Given the description of an element on the screen output the (x, y) to click on. 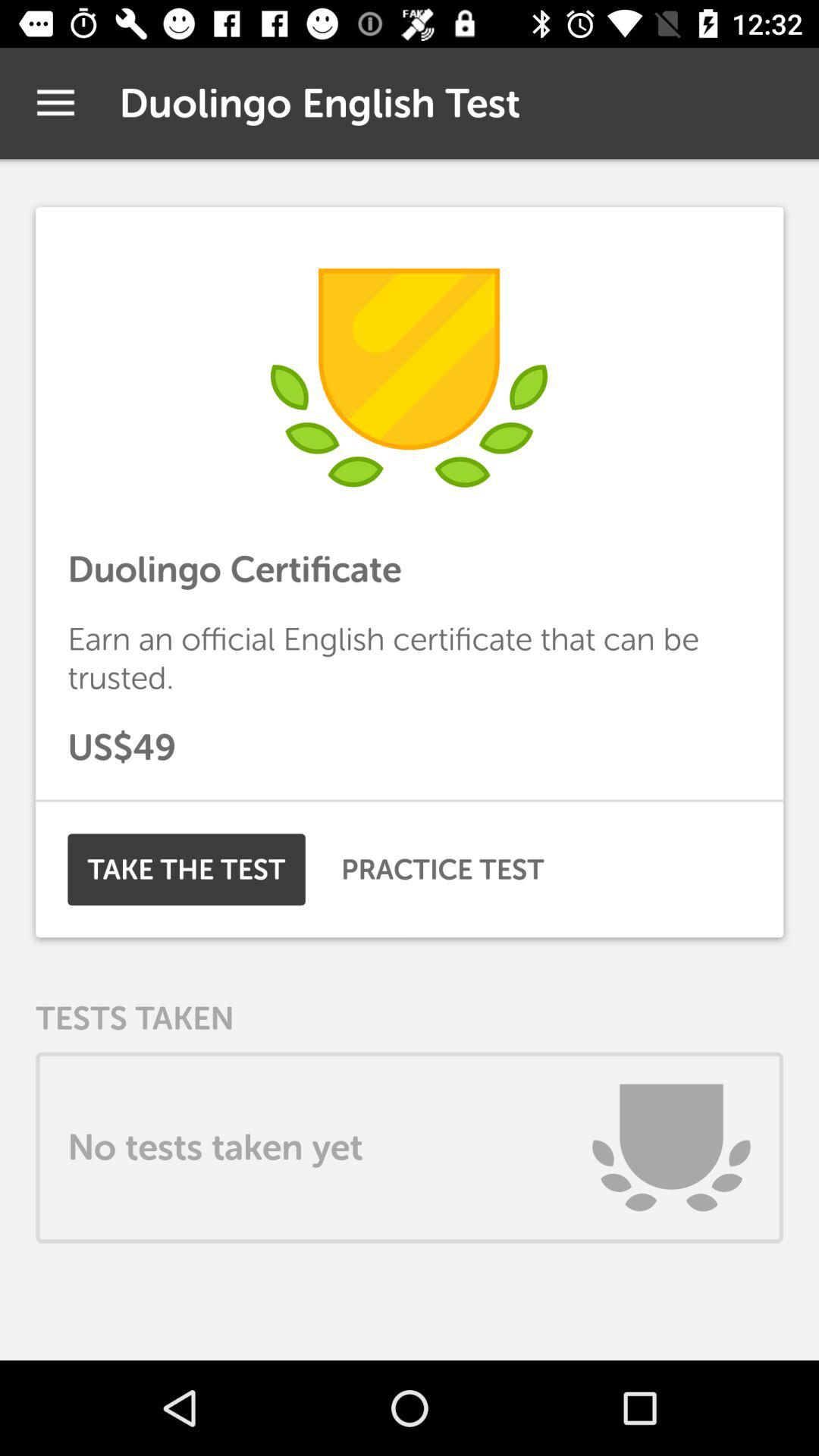
choose icon above no tests taken (442, 869)
